Given the description of an element on the screen output the (x, y) to click on. 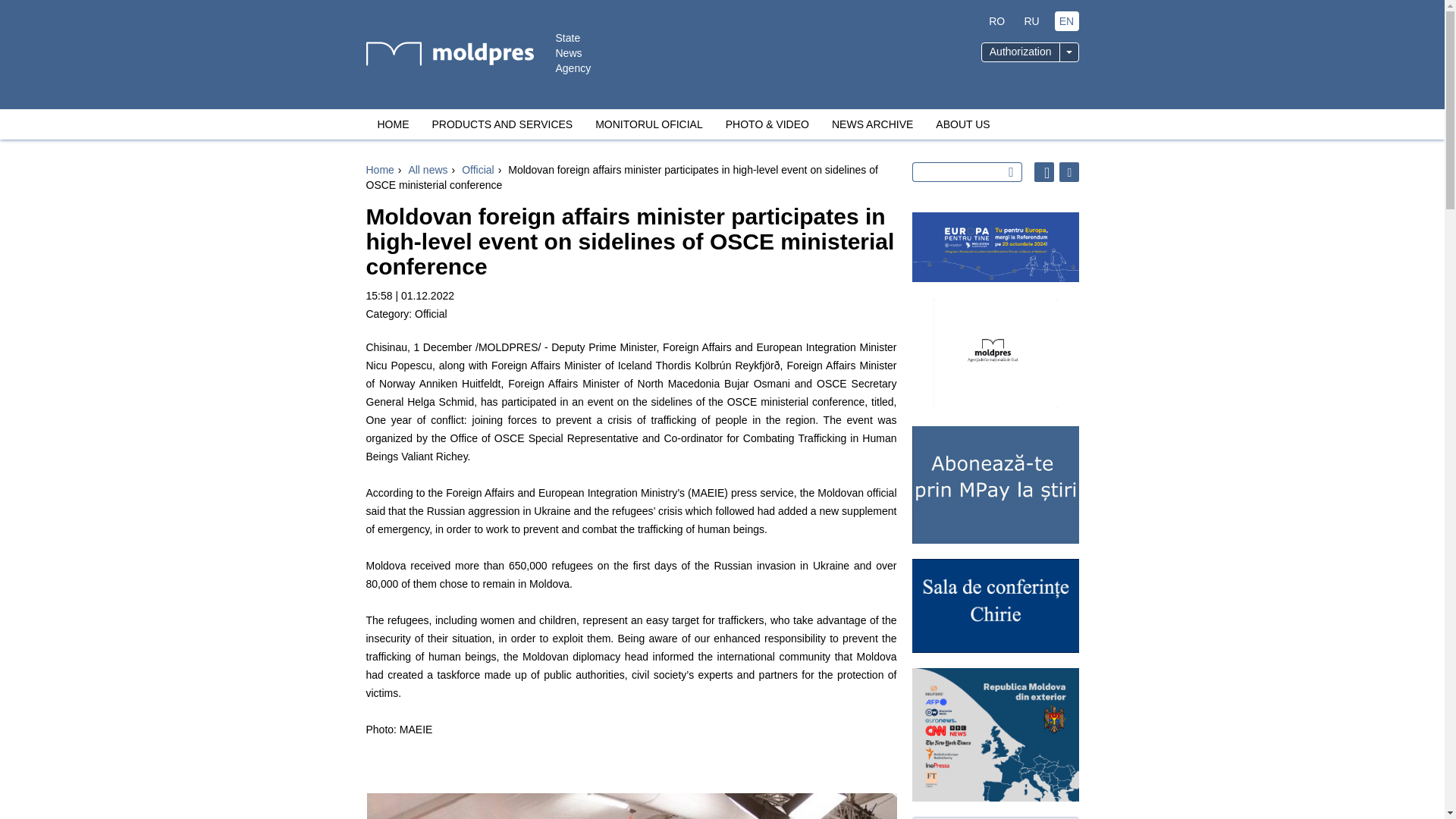
Toogle Dropdown (1068, 52)
RU (1031, 21)
RO (997, 21)
EN (1066, 21)
NEWS ARCHIVE (872, 123)
ABOUT US (962, 123)
PRODUCTS AND SERVICES (501, 123)
Authorization (1020, 52)
MONITORUL OFICIAL (648, 123)
HOME (392, 123)
